Given the description of an element on the screen output the (x, y) to click on. 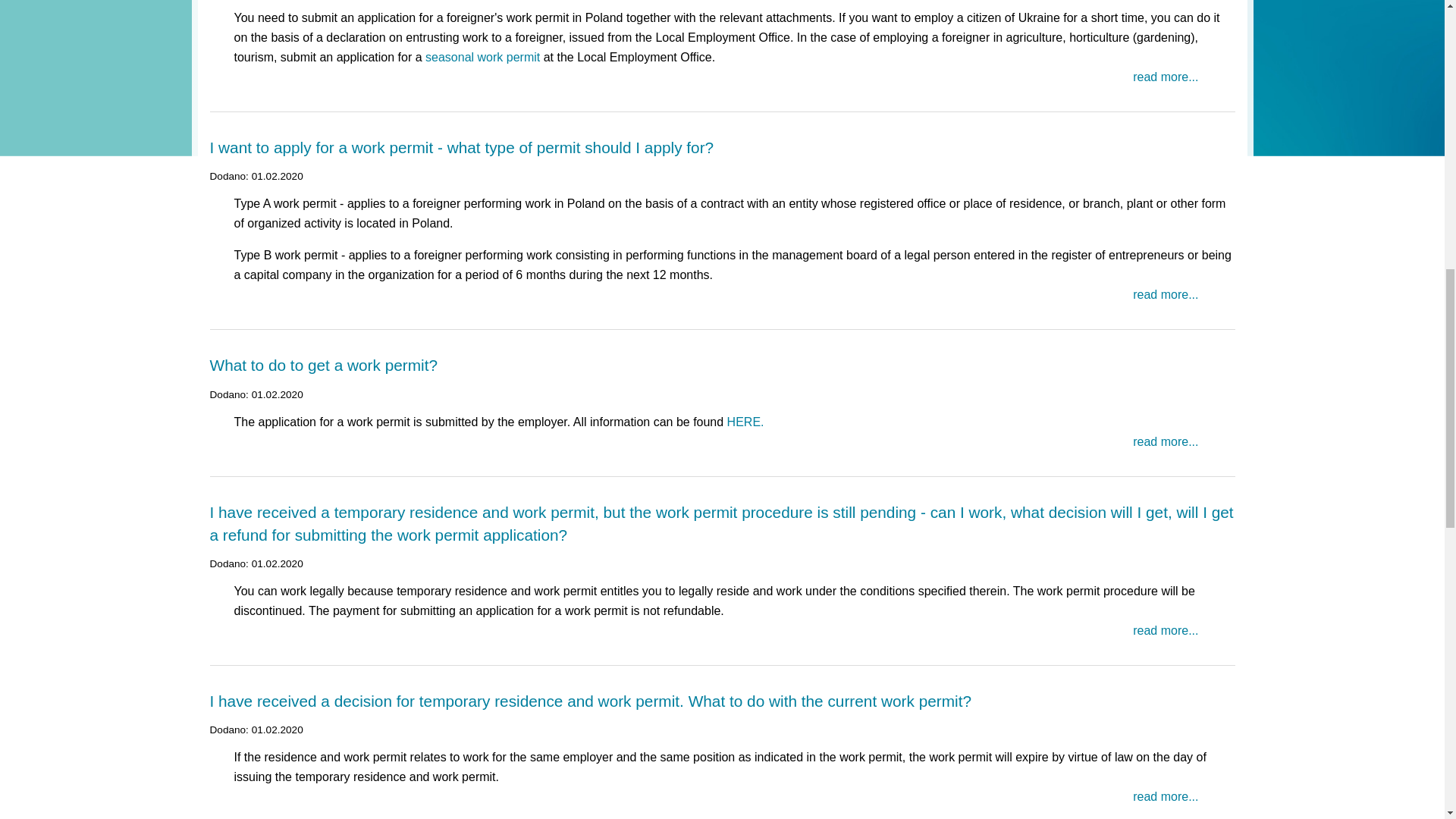
read more... (1165, 76)
read more... (1165, 294)
HERE (743, 421)
seasonal work permit (482, 56)
What to do to get a work permit? (323, 364)
read more... (1165, 440)
